Given the description of an element on the screen output the (x, y) to click on. 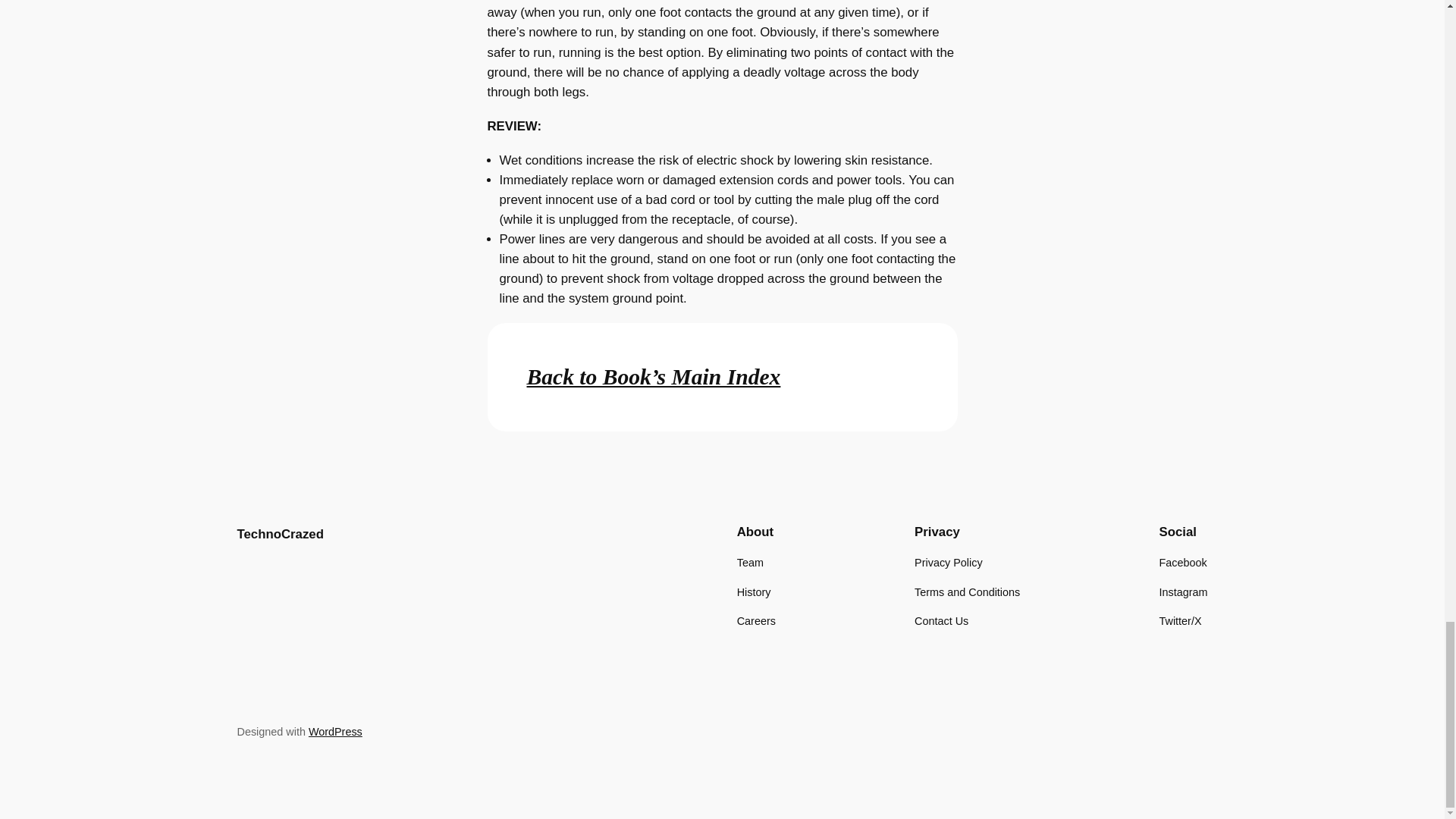
Team (749, 562)
Privacy Policy (948, 562)
Instagram (1182, 591)
TechnoCrazed (279, 534)
History (753, 591)
Terms and Conditions (967, 591)
Careers (756, 620)
Contact Us (941, 620)
Facebook (1182, 562)
WordPress (335, 731)
